Given the description of an element on the screen output the (x, y) to click on. 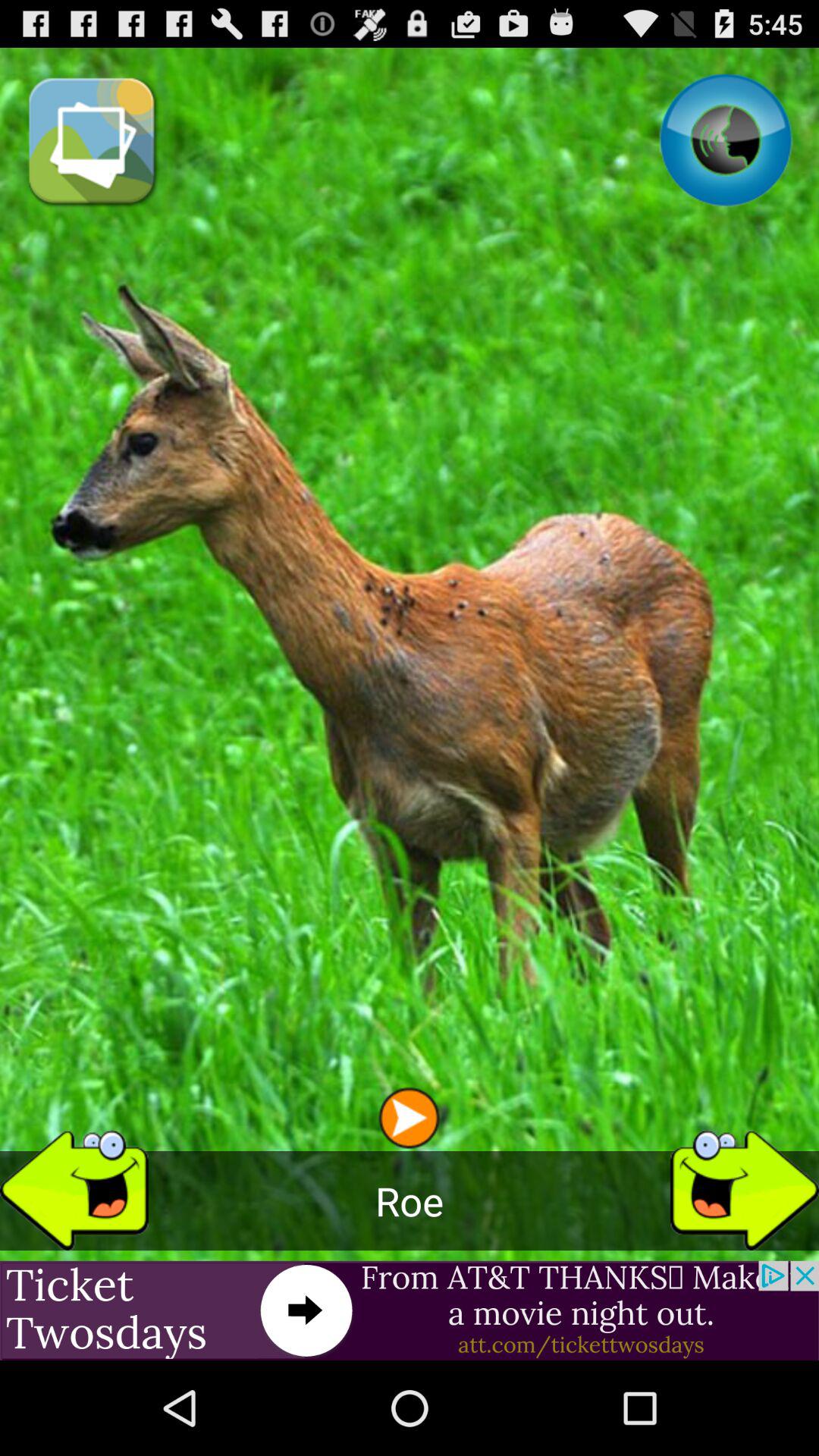
launch the item at the top left corner (92, 140)
